Given the description of an element on the screen output the (x, y) to click on. 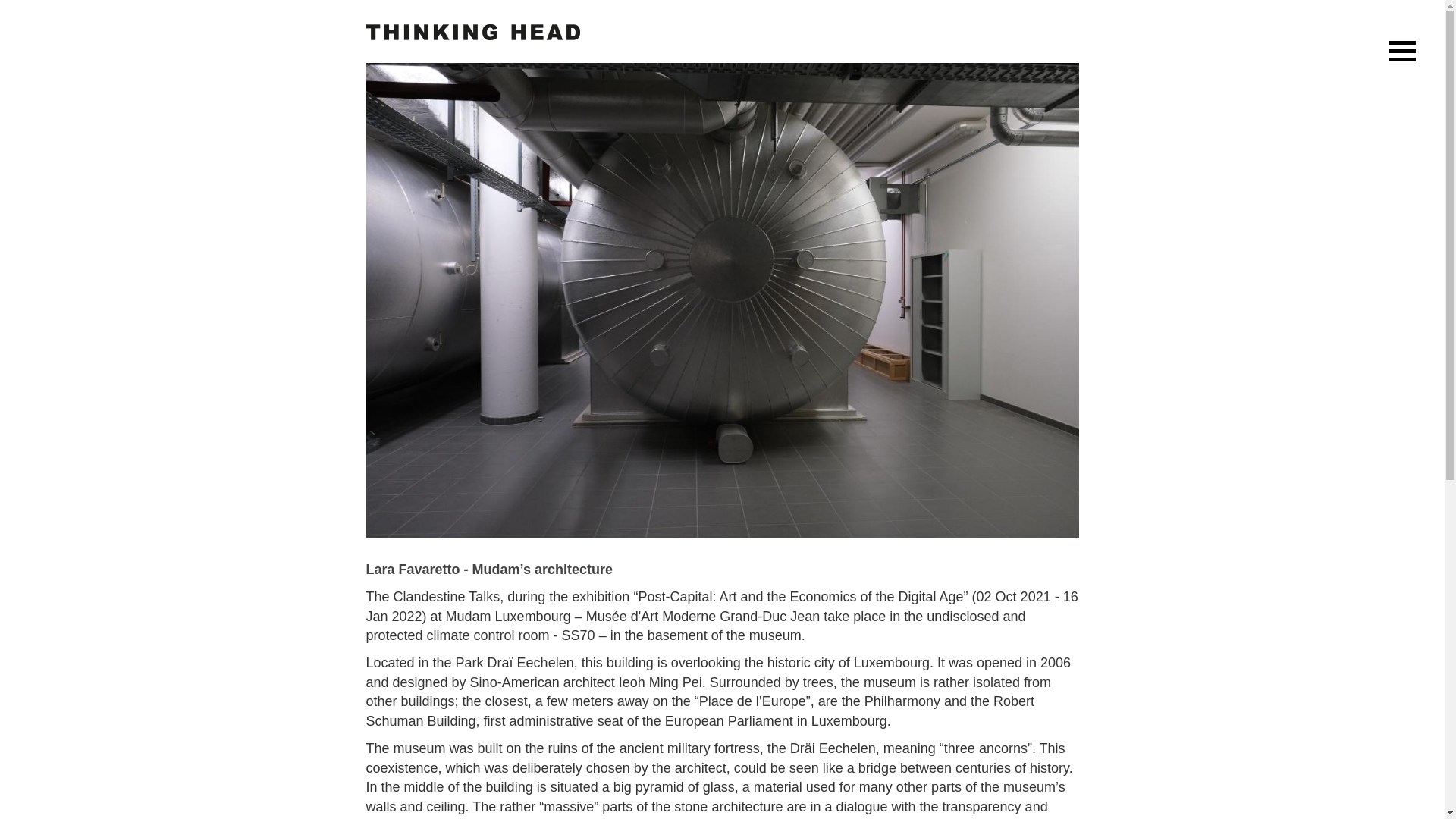
Home (472, 31)
